Given the description of an element on the screen output the (x, y) to click on. 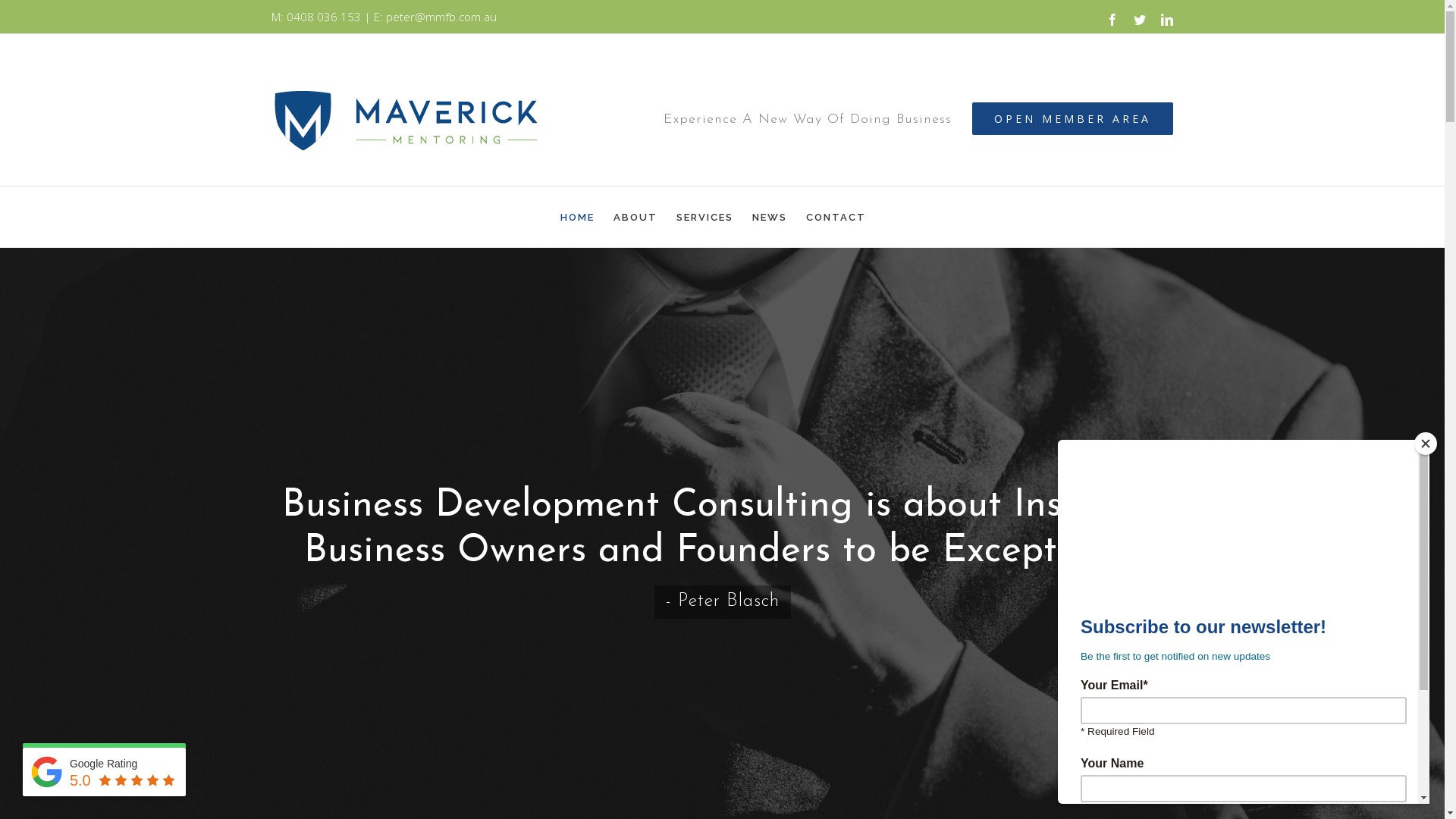
ABOUT Element type: text (634, 216)
0408 036 153 Element type: text (323, 16)
CONTACT Element type: text (835, 216)
twitter Element type: text (1139, 19)
SERVICES Element type: text (704, 216)
NEWS Element type: text (769, 216)
linkedin Element type: text (1167, 19)
OPEN MEMBER AREA Element type: text (1072, 118)
HOME Element type: text (576, 216)
peter@mmfb.com.au Element type: text (440, 16)
facebook Element type: text (1112, 19)
